Given the description of an element on the screen output the (x, y) to click on. 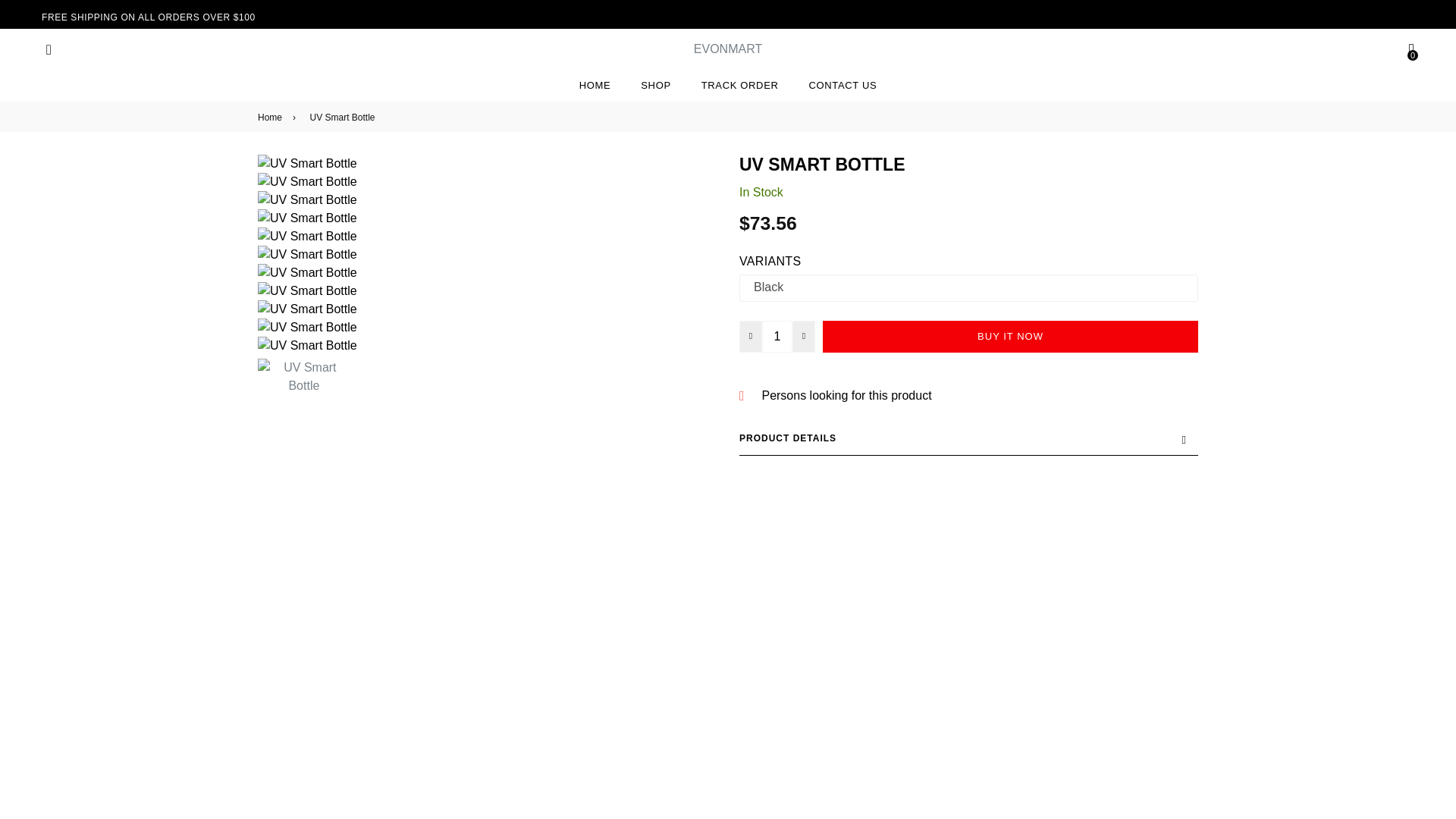
EVONMART (727, 49)
1 (776, 336)
TRACK ORDER (739, 85)
PRODUCT DETAILS (968, 438)
BUY IT NOW (1010, 336)
CONTACT US (842, 85)
Home (271, 117)
SHOP (655, 85)
HOME (595, 85)
Back to the home page (271, 117)
